Given the description of an element on the screen output the (x, y) to click on. 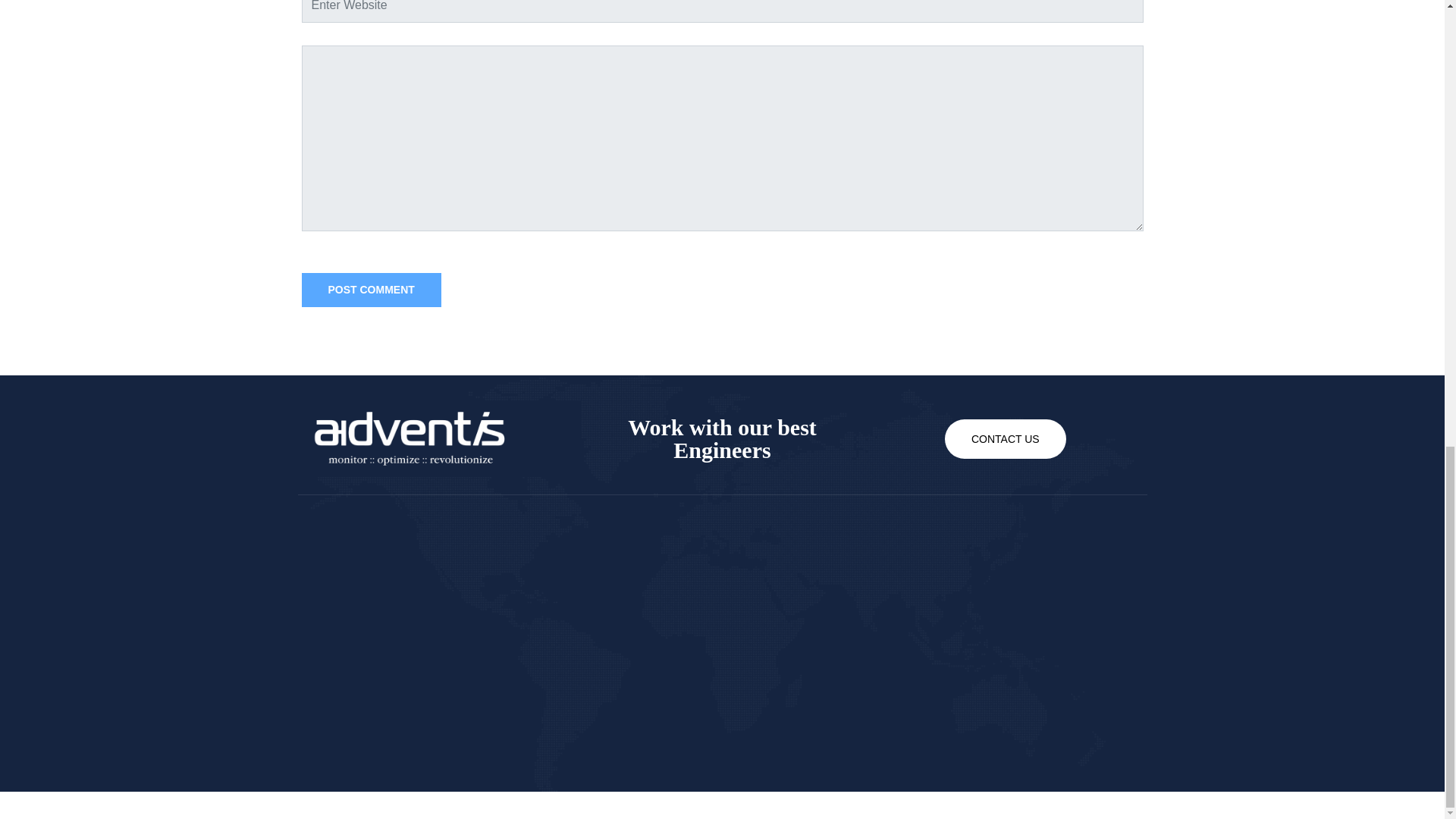
Post Comment (371, 289)
Post Comment (371, 289)
CONTACT US (1004, 438)
